Given the description of an element on the screen output the (x, y) to click on. 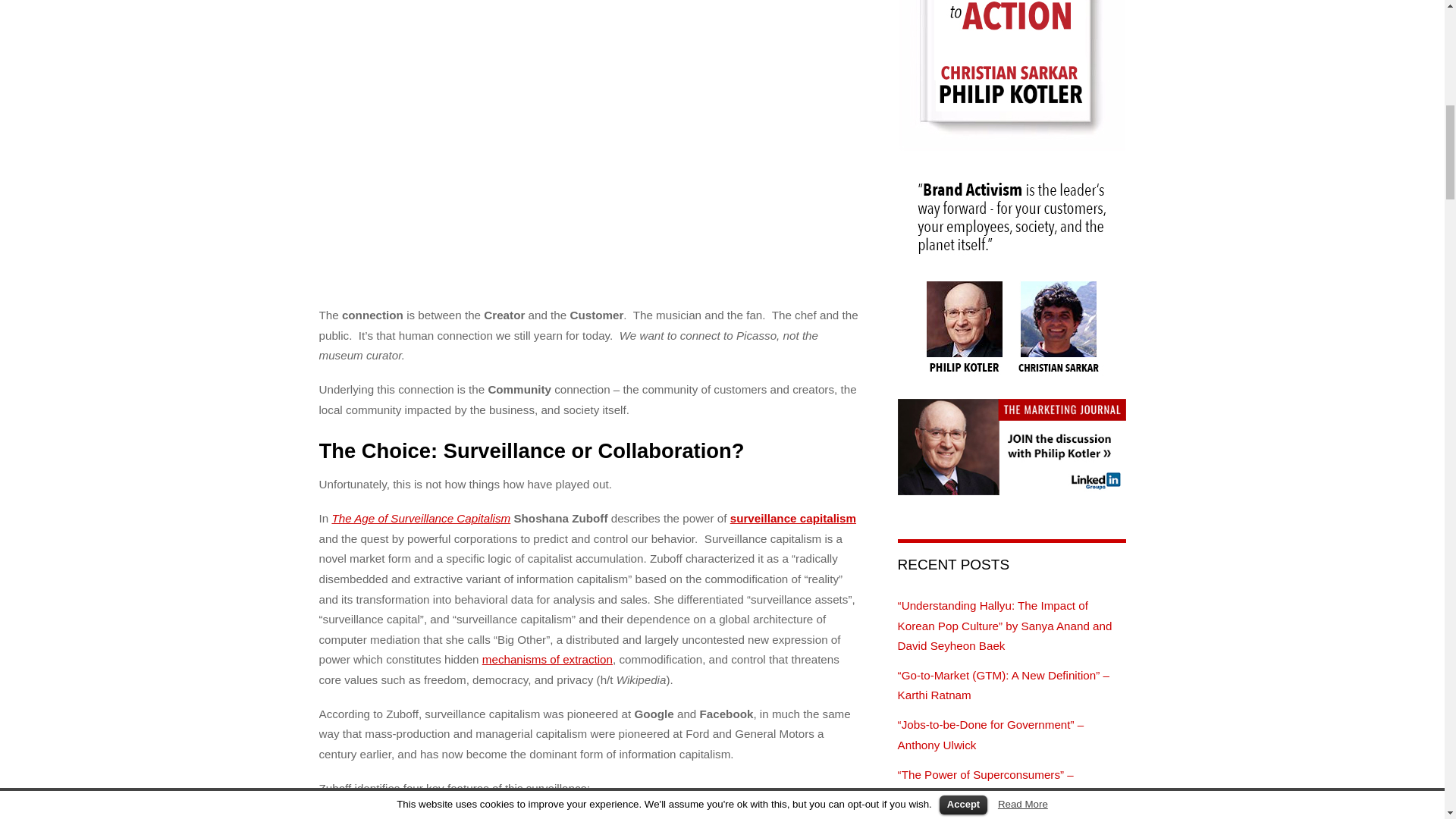
mechanisms of extraction (546, 658)
surveillance capitalism (793, 517)
The Age of Surveillance Capitalism (421, 517)
